Given the description of an element on the screen output the (x, y) to click on. 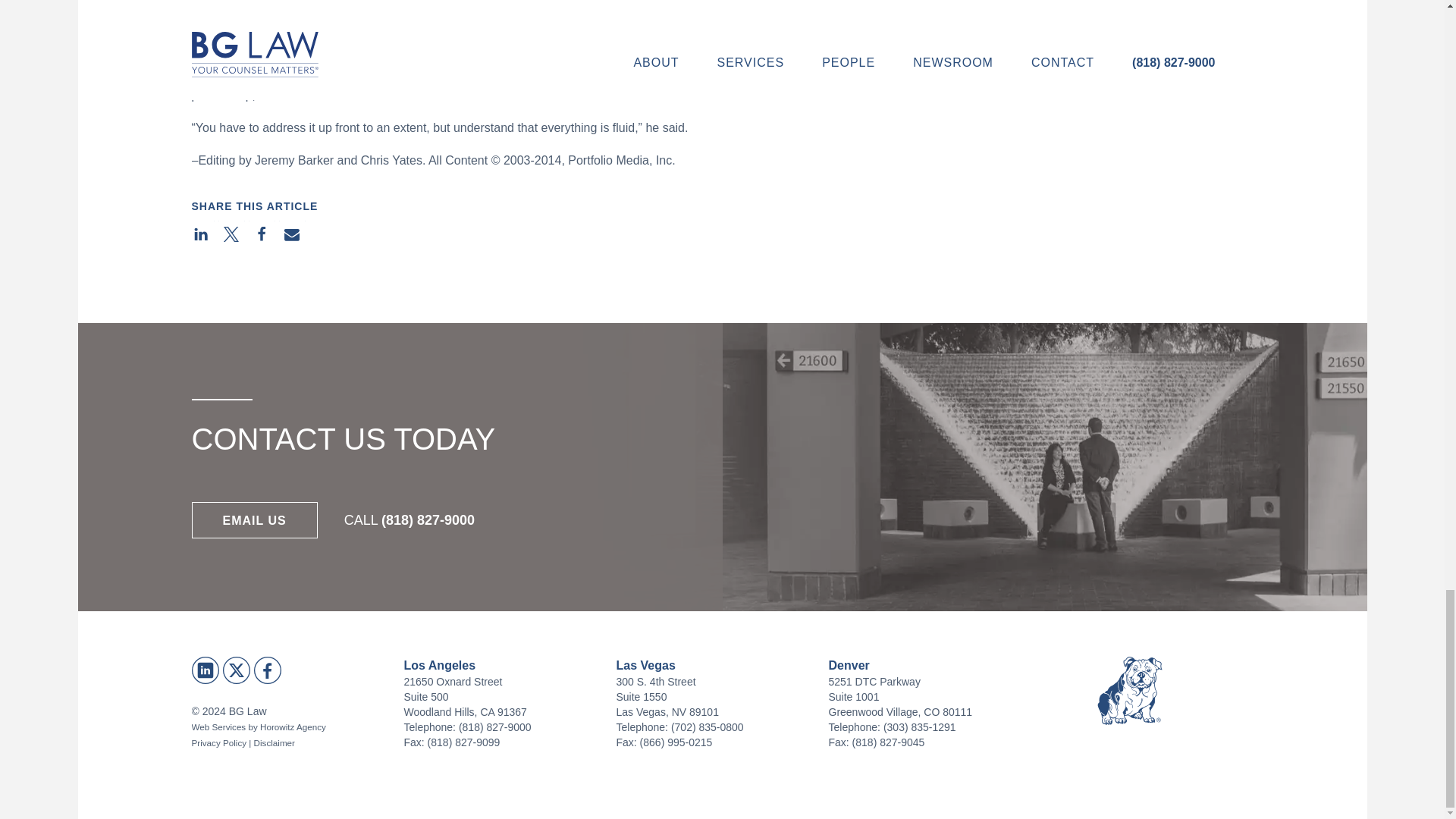
Share on Facebook (261, 233)
Share on X (231, 233)
Share on LinkedIn (200, 233)
Privacy Policy (218, 742)
EMAIL US (253, 520)
Send by email (292, 233)
Web Services by Horowitz Agency (257, 726)
Disclaimer (274, 742)
